Given the description of an element on the screen output the (x, y) to click on. 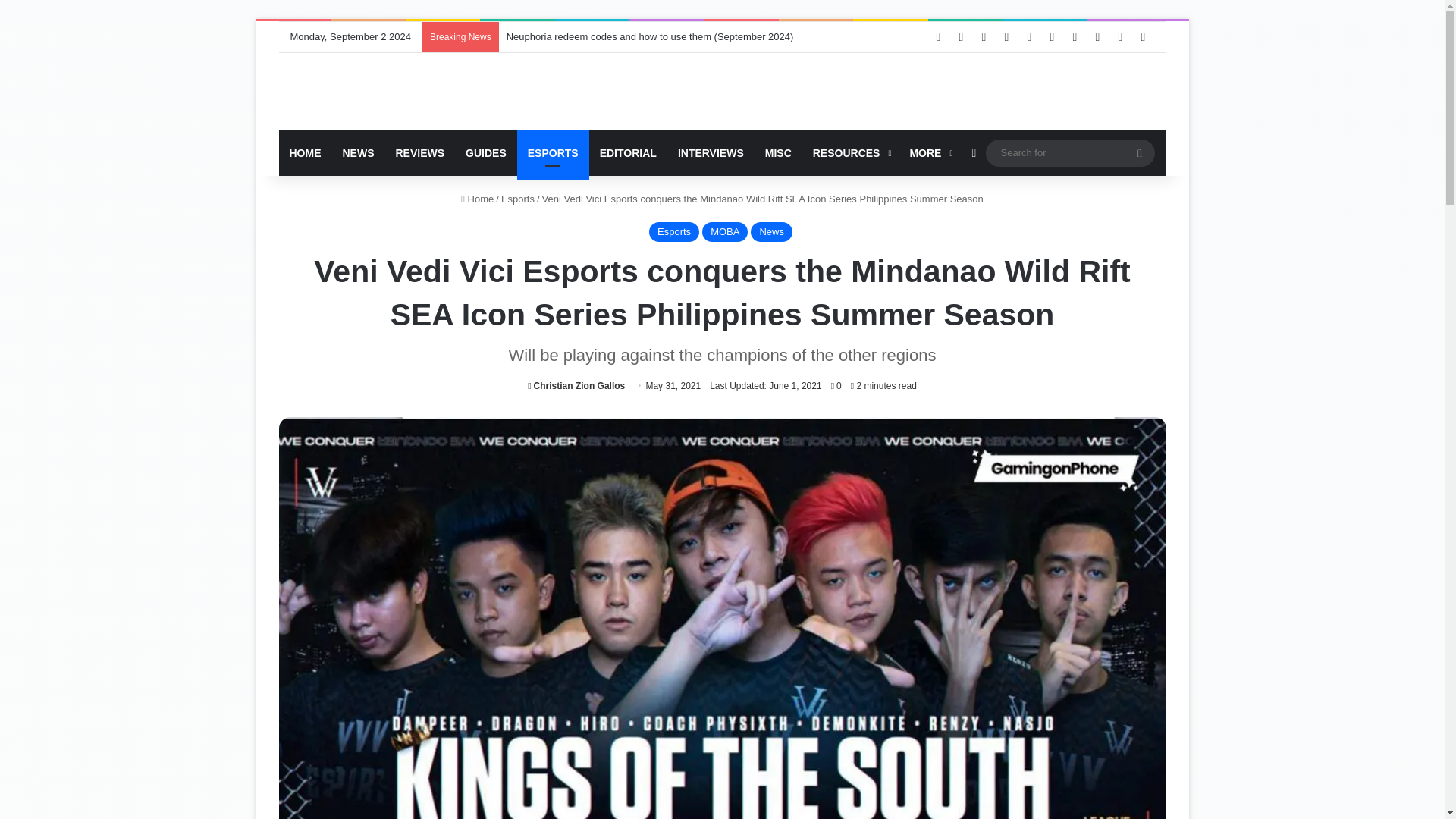
MORE (928, 153)
INTERVIEWS (710, 153)
MISC (778, 153)
RESOURCES (850, 153)
Esports (517, 198)
Search for (1139, 153)
REVIEWS (420, 153)
Esports (673, 231)
ESPORTS (552, 153)
Home (477, 198)
